Given the description of an element on the screen output the (x, y) to click on. 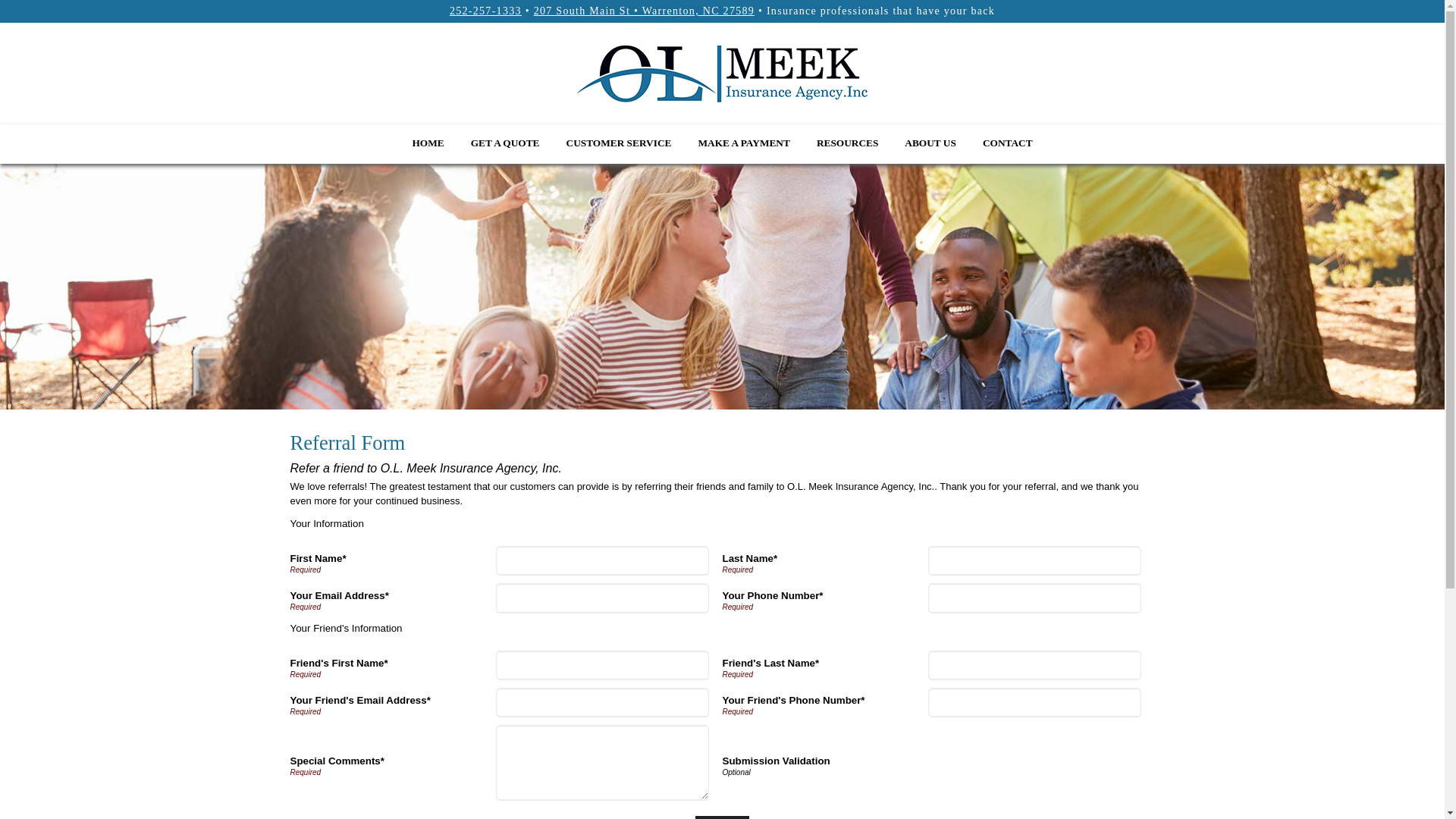
Submit (721, 817)
CUSTOMER SERVICE (618, 141)
HOME (427, 141)
252-257-1333 (485, 10)
GET A QUOTE (505, 141)
